Given the description of an element on the screen output the (x, y) to click on. 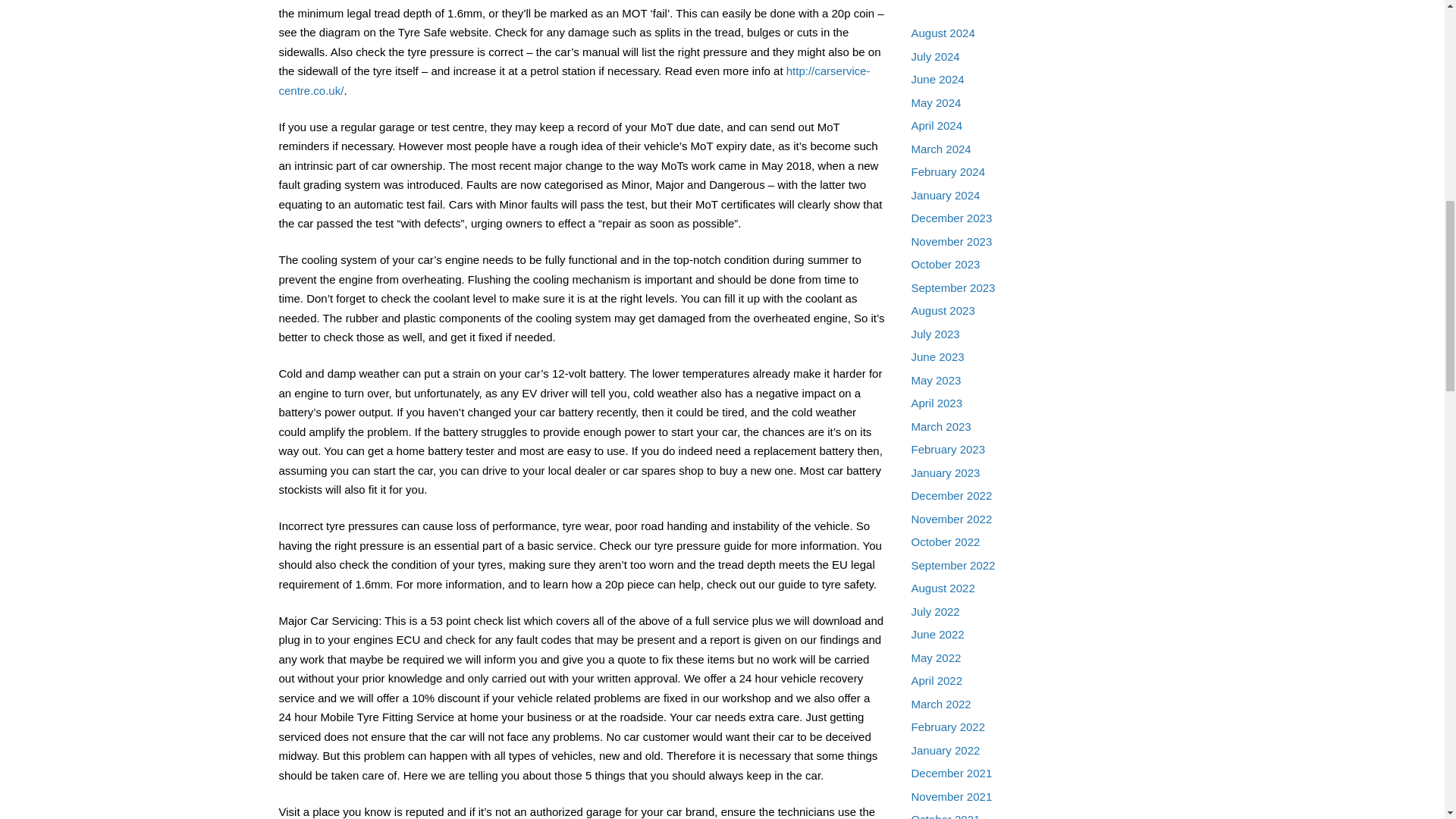
November 2023 (951, 241)
December 2022 (951, 495)
November 2022 (951, 518)
April 2023 (936, 402)
June 2024 (937, 78)
July 2024 (935, 56)
August 2024 (943, 32)
February 2023 (948, 449)
August 2023 (943, 309)
March 2023 (941, 426)
